Given the description of an element on the screen output the (x, y) to click on. 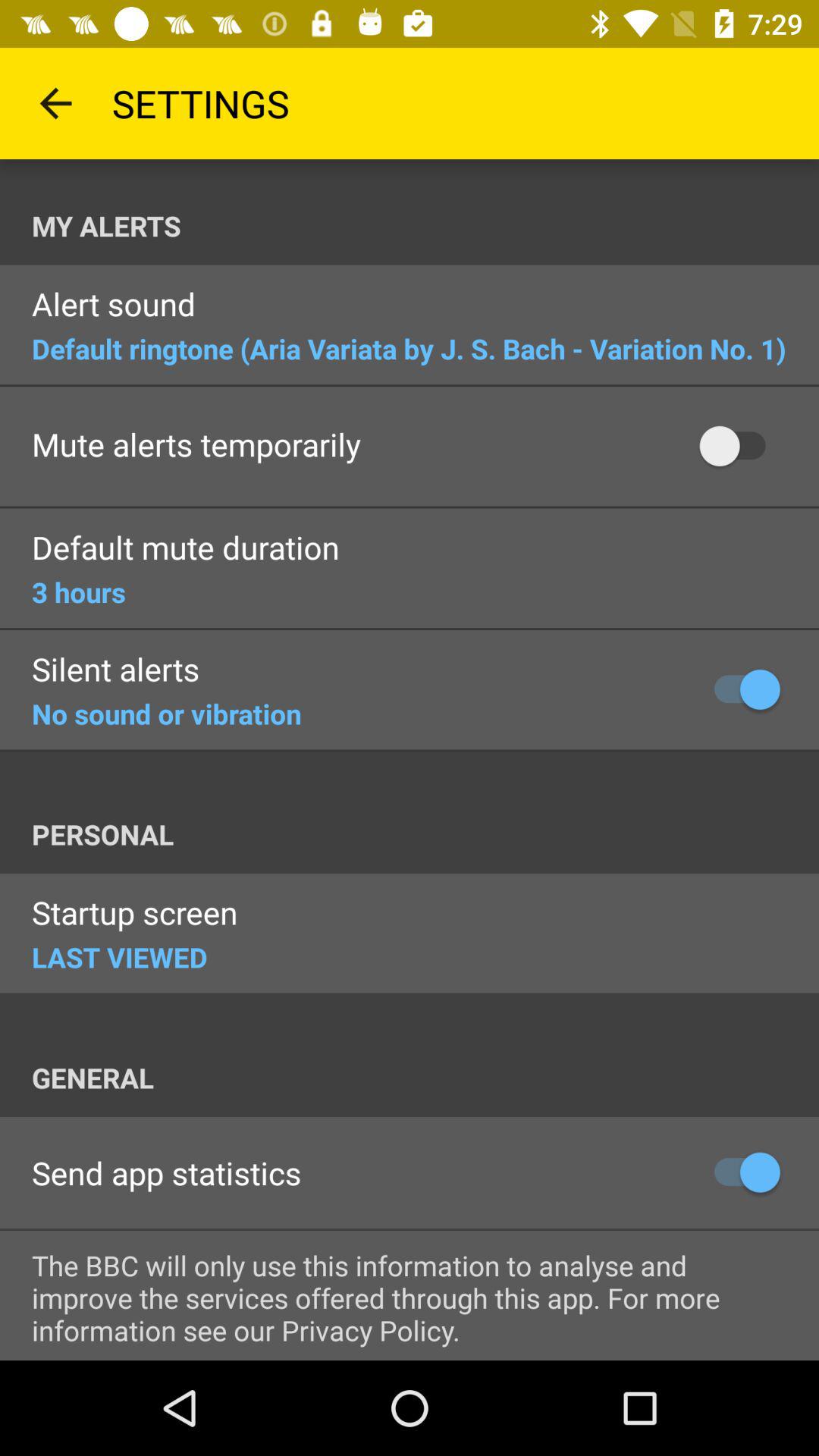
click the item next to the settings item (55, 103)
